Given the description of an element on the screen output the (x, y) to click on. 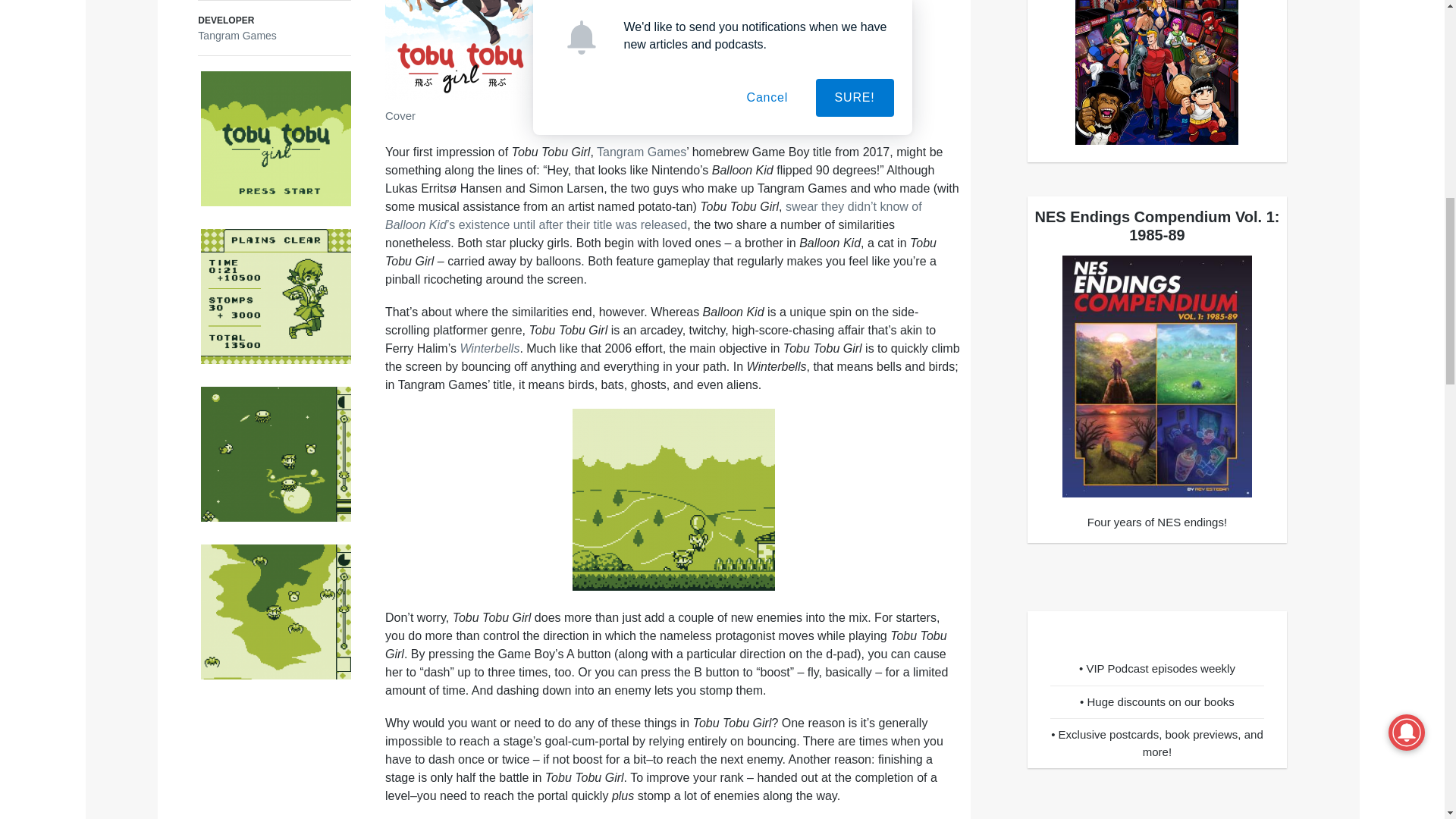
Tangram Games (640, 151)
Winterbells (489, 348)
